Given the description of an element on the screen output the (x, y) to click on. 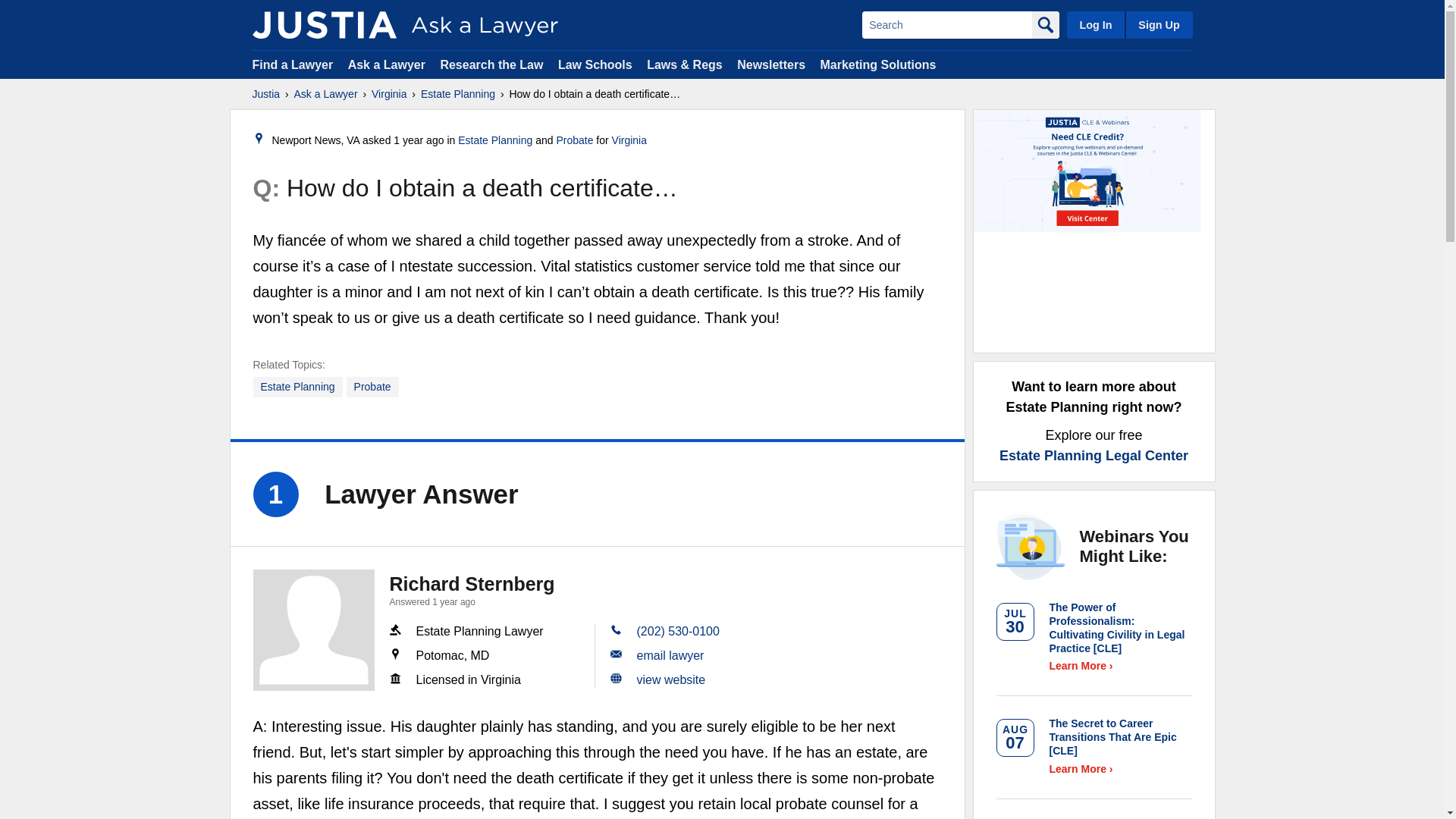
Law Schools (594, 64)
Richard Sternberg (313, 630)
Ask a Lawyer (388, 64)
Probate (574, 140)
Research the Law (491, 64)
Find a Lawyer (292, 64)
Estate Planning (297, 386)
Estate Planning (457, 93)
Justia (265, 93)
Probate (372, 386)
Ask a Lawyer (326, 93)
2022-09-14T07:29:41-07:00 (418, 140)
Log In (1094, 24)
Newsletters (770, 64)
email lawyer (670, 655)
